Given the description of an element on the screen output the (x, y) to click on. 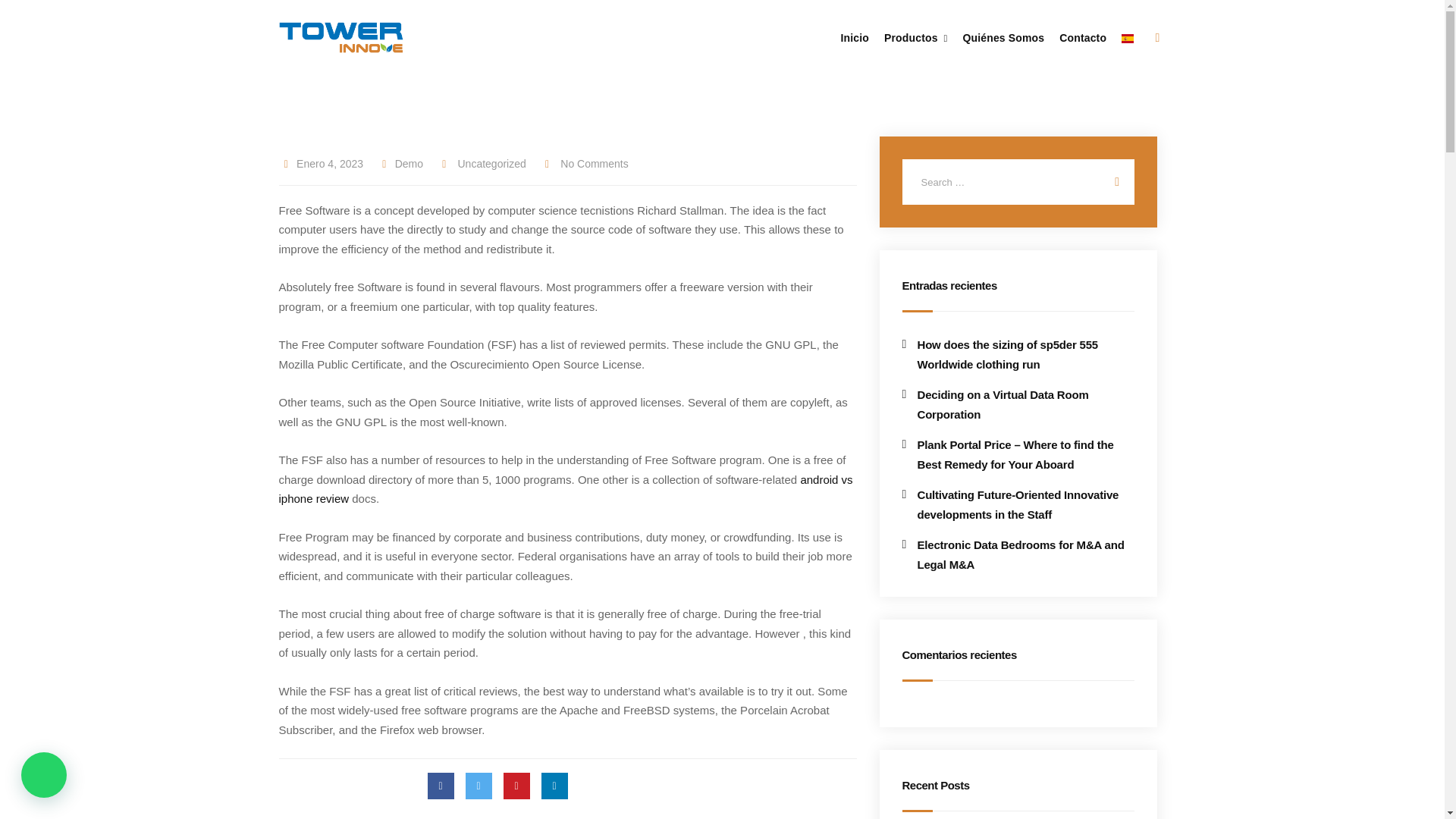
Tower Innove S.L (341, 37)
